Given the description of an element on the screen output the (x, y) to click on. 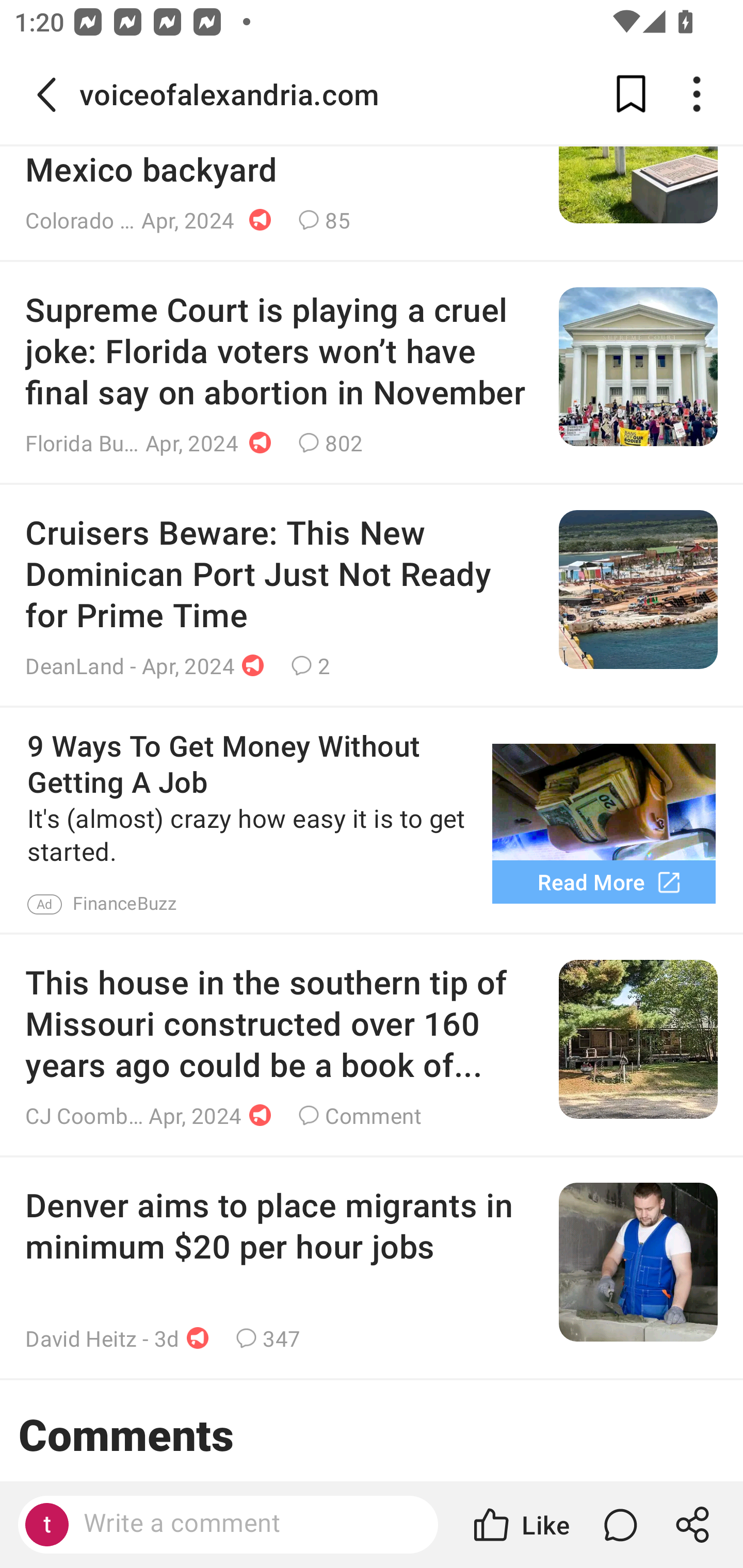
9 Ways To Get Money Without Getting A Job (250, 763)
It's (almost) crazy how easy it is to get started. (250, 835)
Read More (603, 881)
FinanceBuzz (124, 903)
Like (519, 1524)
Write a comment (227, 1524)
Write a comment (245, 1523)
